Given the description of an element on the screen output the (x, y) to click on. 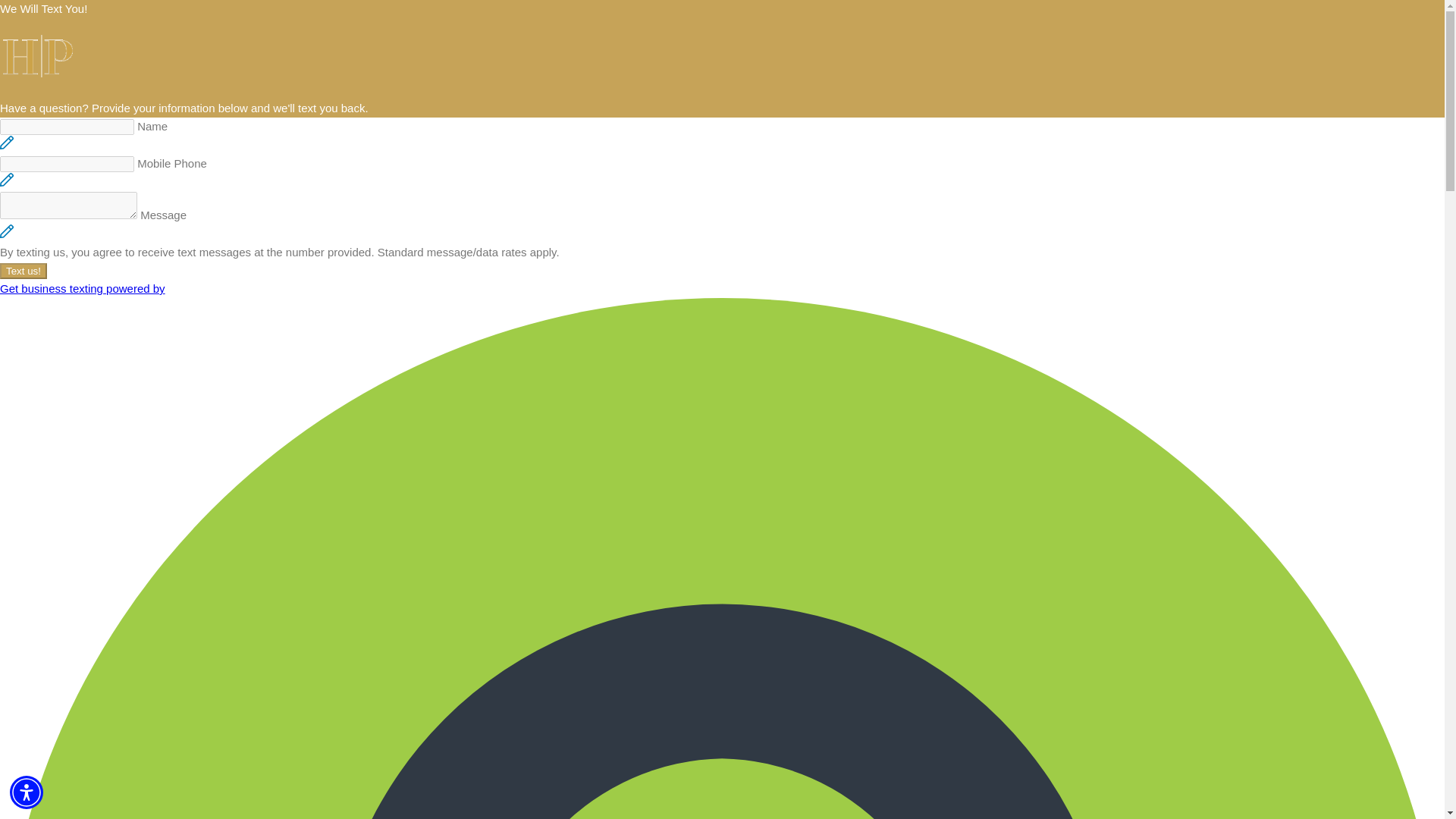
Accessibility Menu (26, 792)
